Given the description of an element on the screen output the (x, y) to click on. 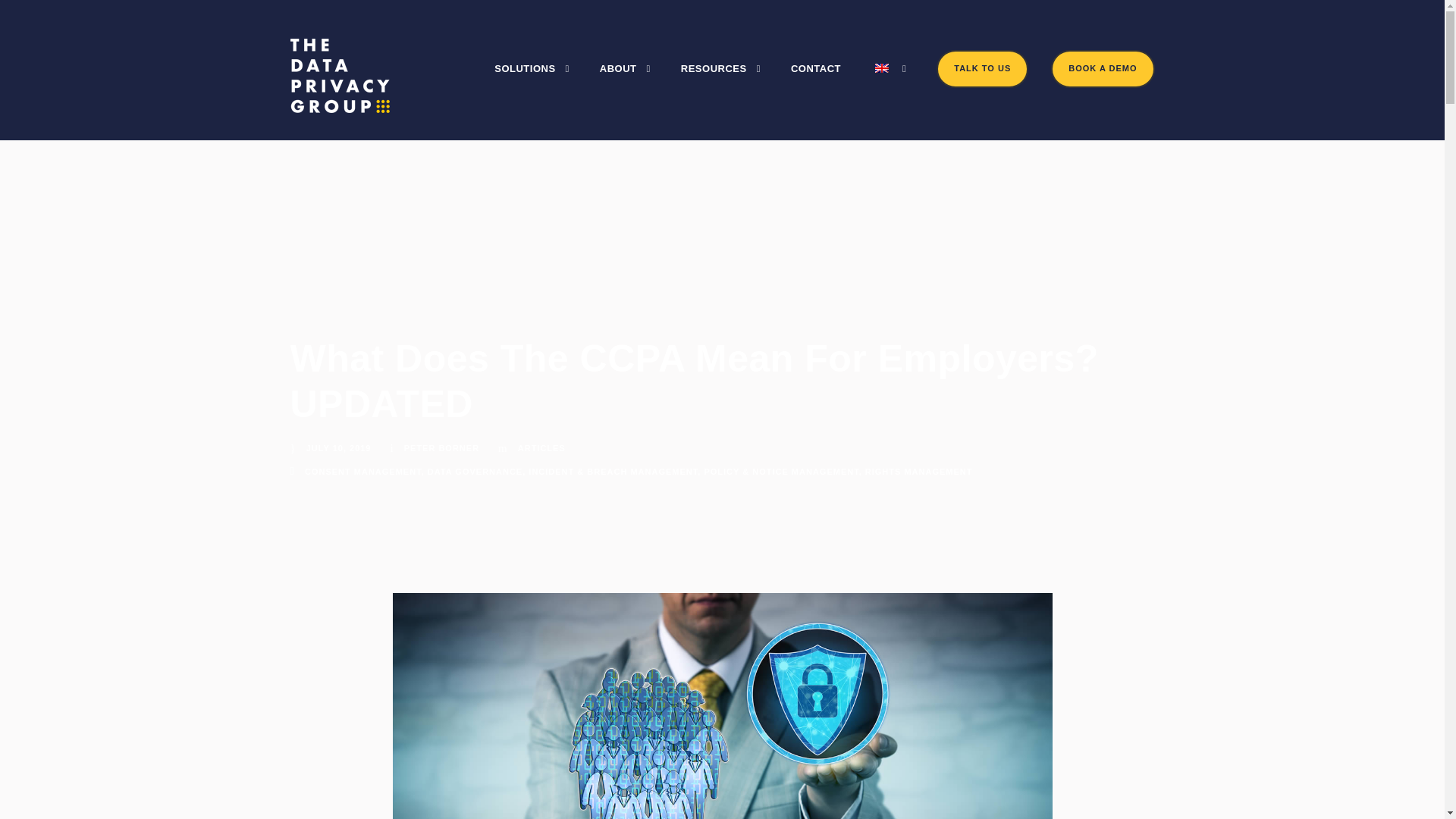
CONTACT (815, 82)
ABOUT (624, 82)
small-logo-tdpg (340, 75)
Posts by Peter Borner (441, 447)
RESOURCES (720, 82)
SOLUTIONS (532, 82)
